Given the description of an element on the screen output the (x, y) to click on. 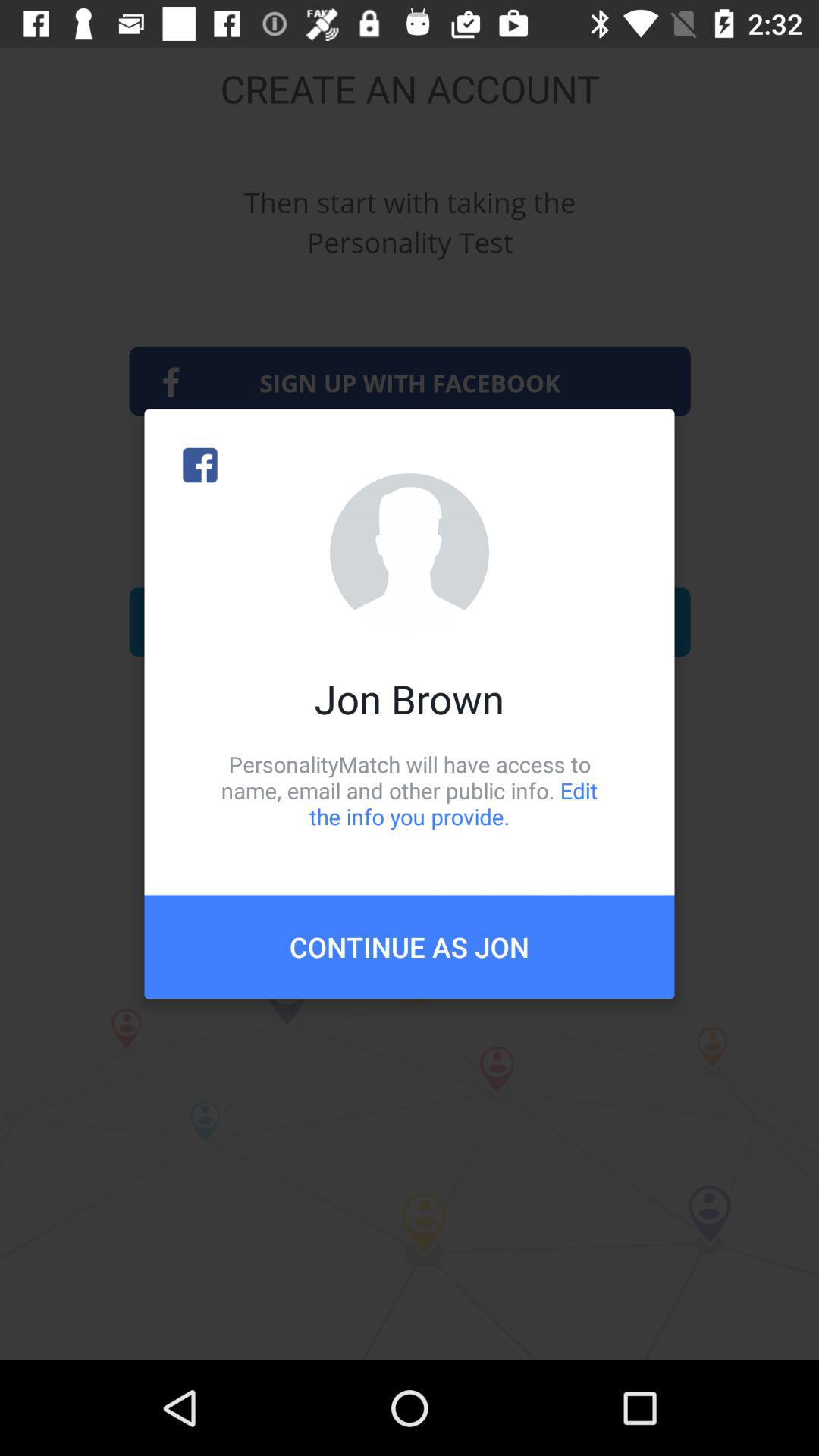
choose the continue as jon icon (409, 946)
